Given the description of an element on the screen output the (x, y) to click on. 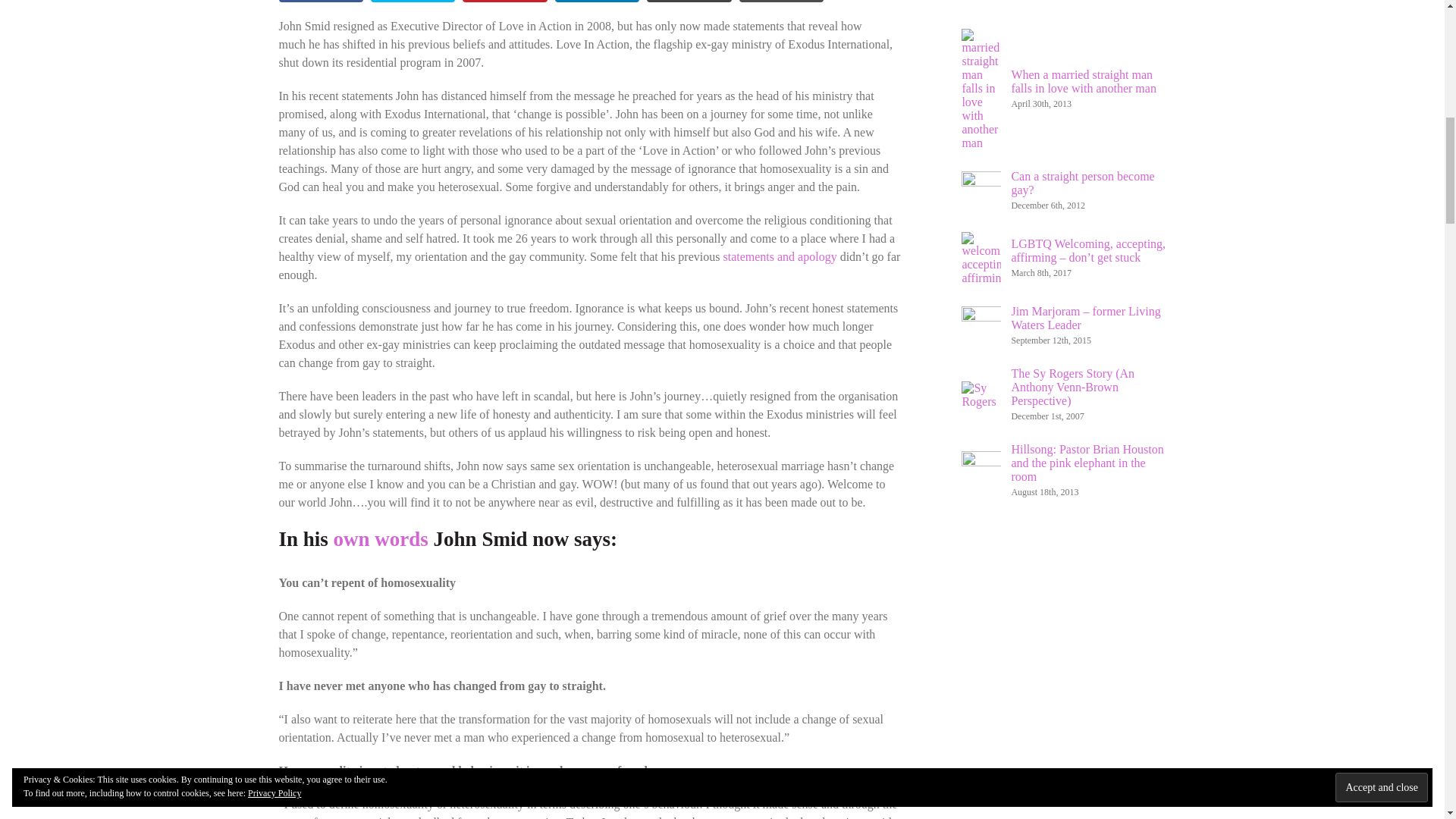
0 (688, 1)
Share on LinkedIn (596, 1)
Share on Facebook (320, 1)
Share on Twitter (412, 1)
Share via Email (688, 1)
Share on Pinterest (505, 1)
